Given the description of an element on the screen output the (x, y) to click on. 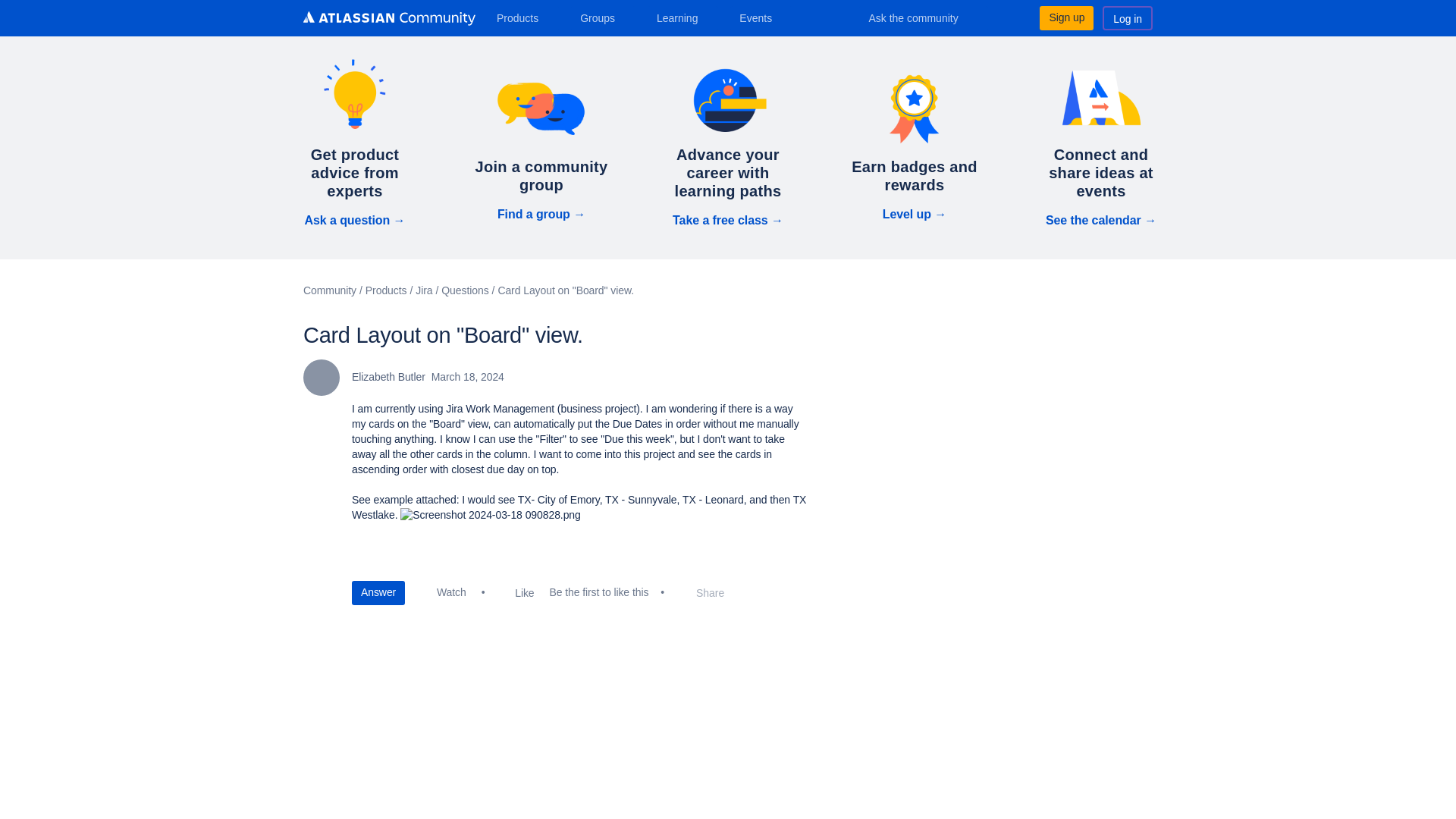
Log in (1127, 17)
Sign up (1066, 17)
Screenshot 2024-03-18 090828.png (490, 515)
Elizabeth Butler (320, 377)
Ask the community  (923, 17)
Groups (602, 17)
Products (523, 17)
Events (761, 17)
Atlassian Community logo (389, 18)
Learning (682, 17)
